Given the description of an element on the screen output the (x, y) to click on. 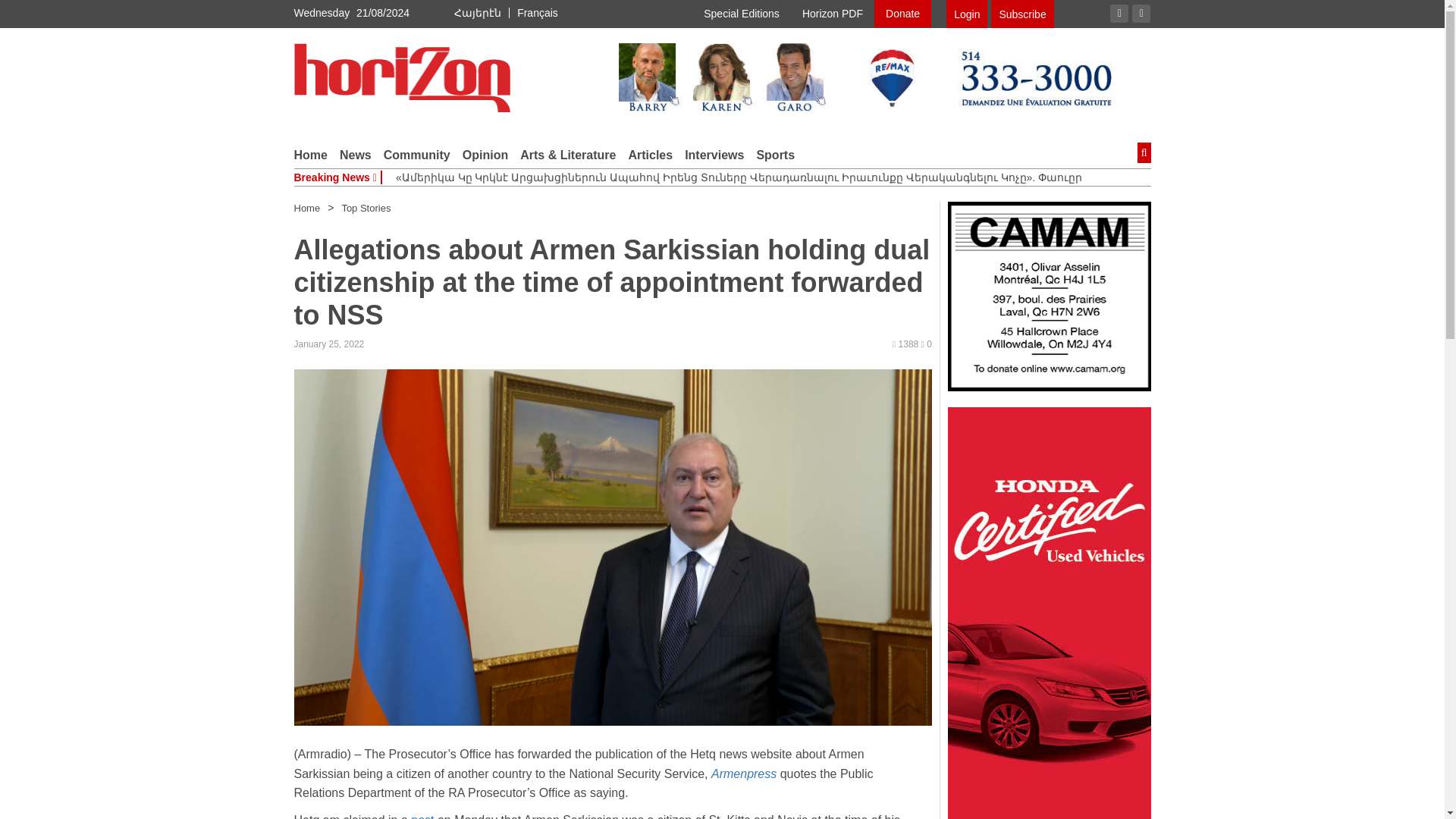
Opinion (485, 155)
Subscribe (1021, 13)
Articles (649, 155)
Donate (903, 13)
Sports (774, 155)
Home (310, 155)
Login (966, 13)
Special Editions (741, 13)
Community (416, 155)
Home (307, 207)
